Given the description of an element on the screen output the (x, y) to click on. 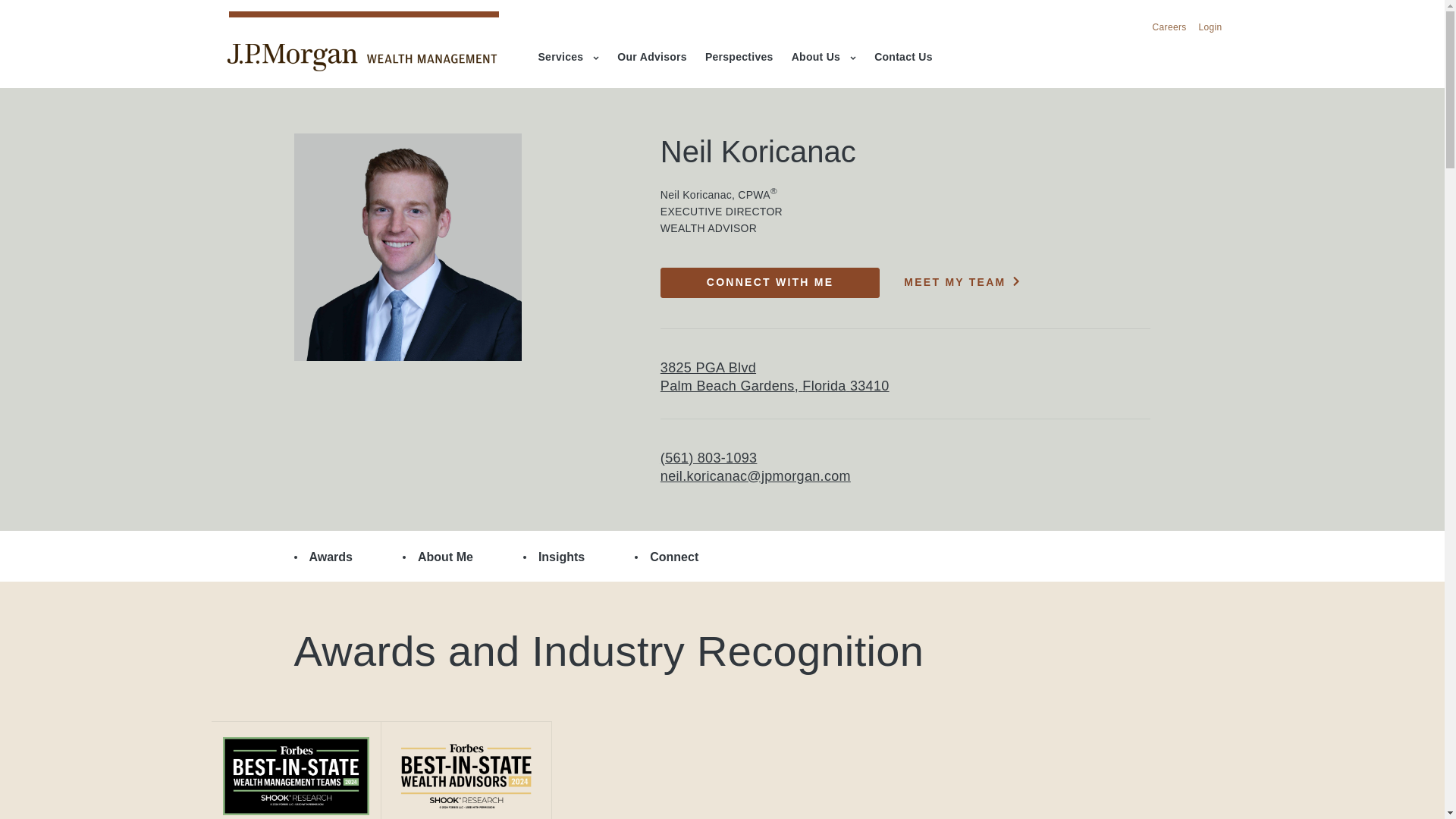
Careers (1169, 28)
Services (568, 57)
About Us (824, 57)
Our Advisors (652, 57)
CONNECT WITH ME (770, 282)
Link to main website (361, 56)
MEET MY TEAM (961, 282)
Perspectives (738, 57)
Contact Us (904, 57)
Login (1210, 28)
